Given the description of an element on the screen output the (x, y) to click on. 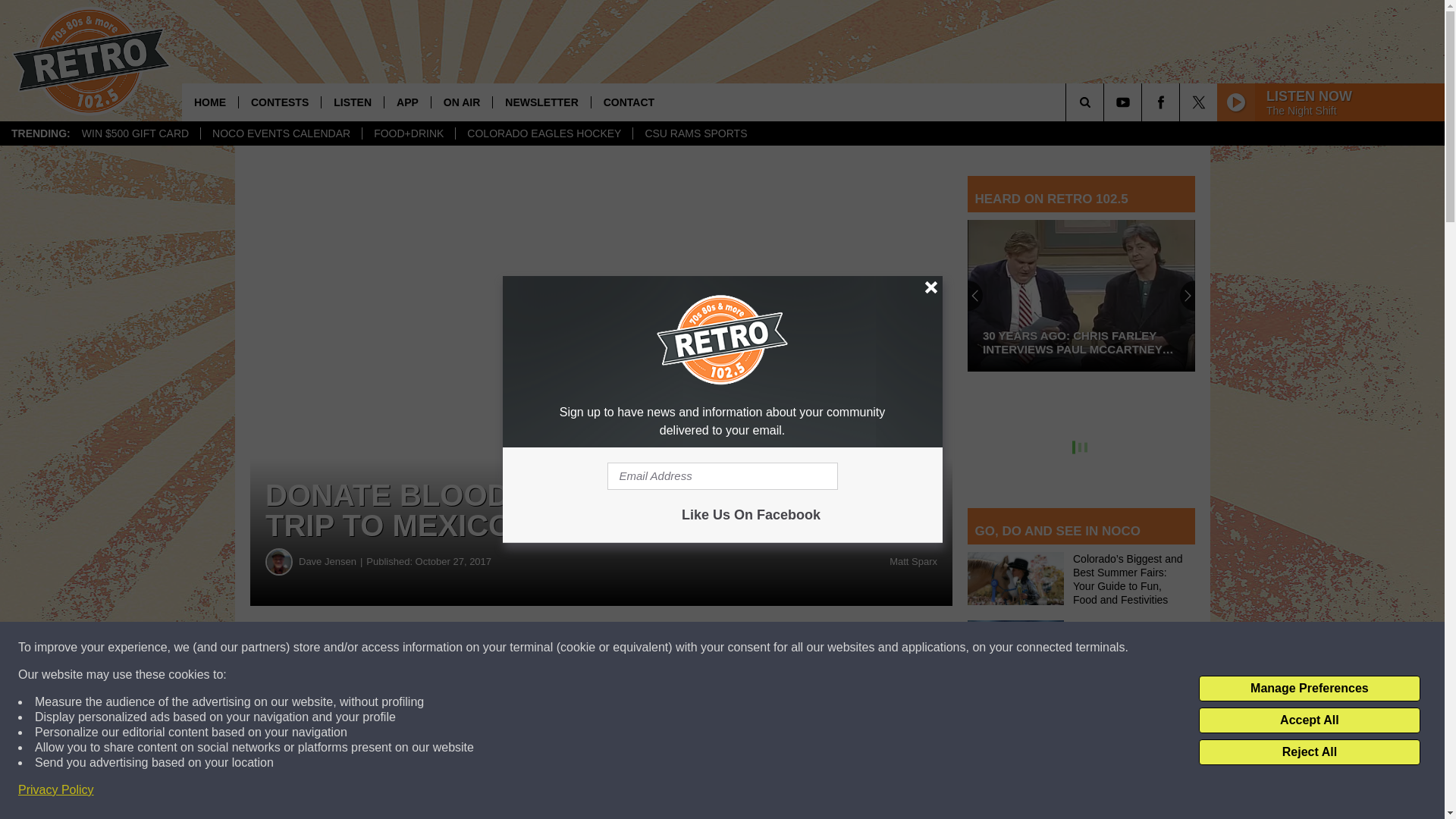
CONTESTS (279, 102)
NEWSLETTER (540, 102)
NOCO EVENTS CALENDAR (280, 133)
Privacy Policy (55, 789)
LISTEN (352, 102)
Email Address (722, 475)
SEARCH (1106, 102)
Manage Preferences (1309, 688)
Share on Twitter (741, 647)
Accept All (1309, 720)
CSU RAMS SPORTS (694, 133)
HOME (210, 102)
Share on Facebook (460, 647)
CONTACT (628, 102)
SEARCH (1106, 102)
